Given the description of an element on the screen output the (x, y) to click on. 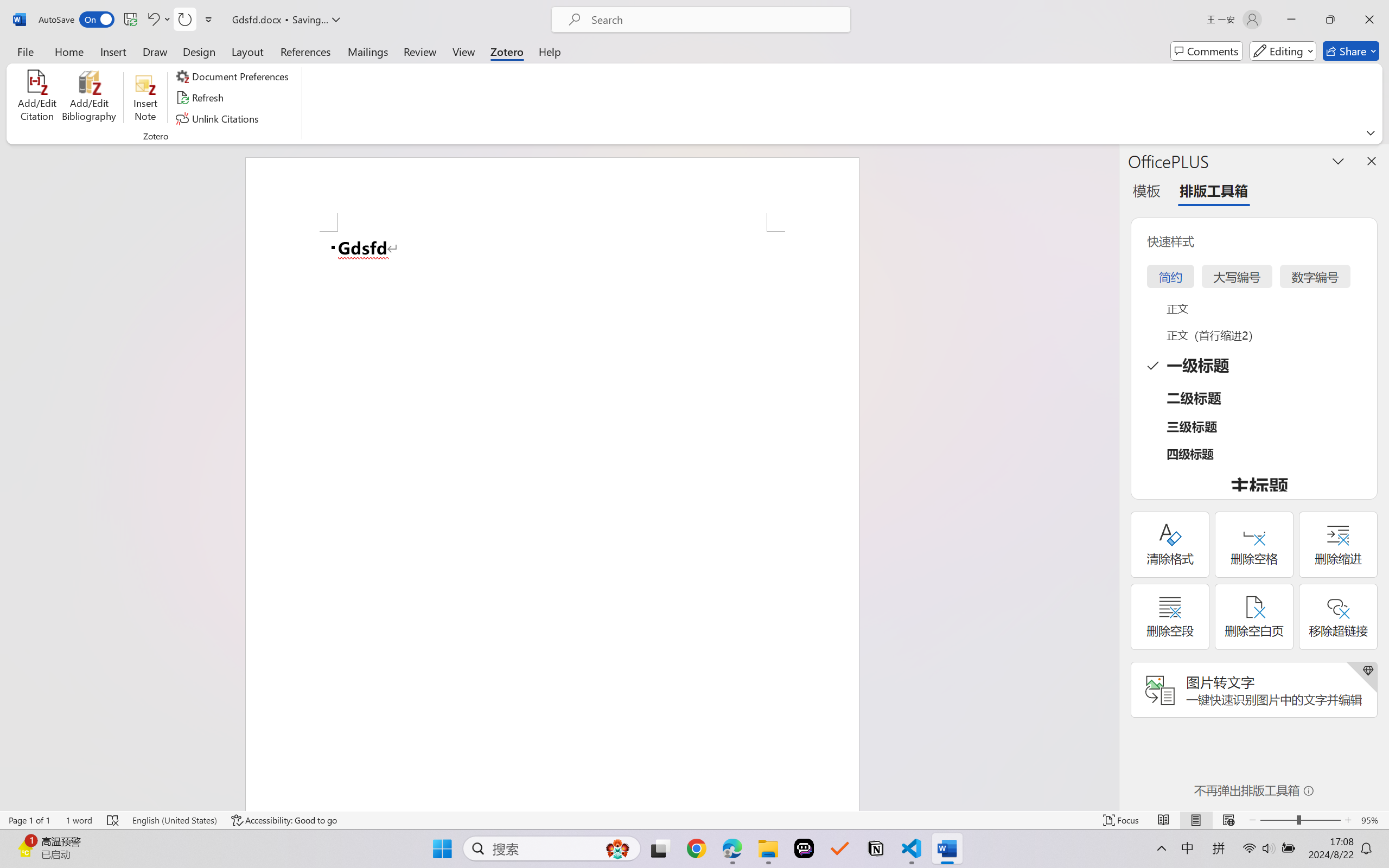
Spelling and Grammar Check Errors (113, 819)
Undo <ApplyStyleToDoc>b__0 (152, 19)
